Given the description of an element on the screen output the (x, y) to click on. 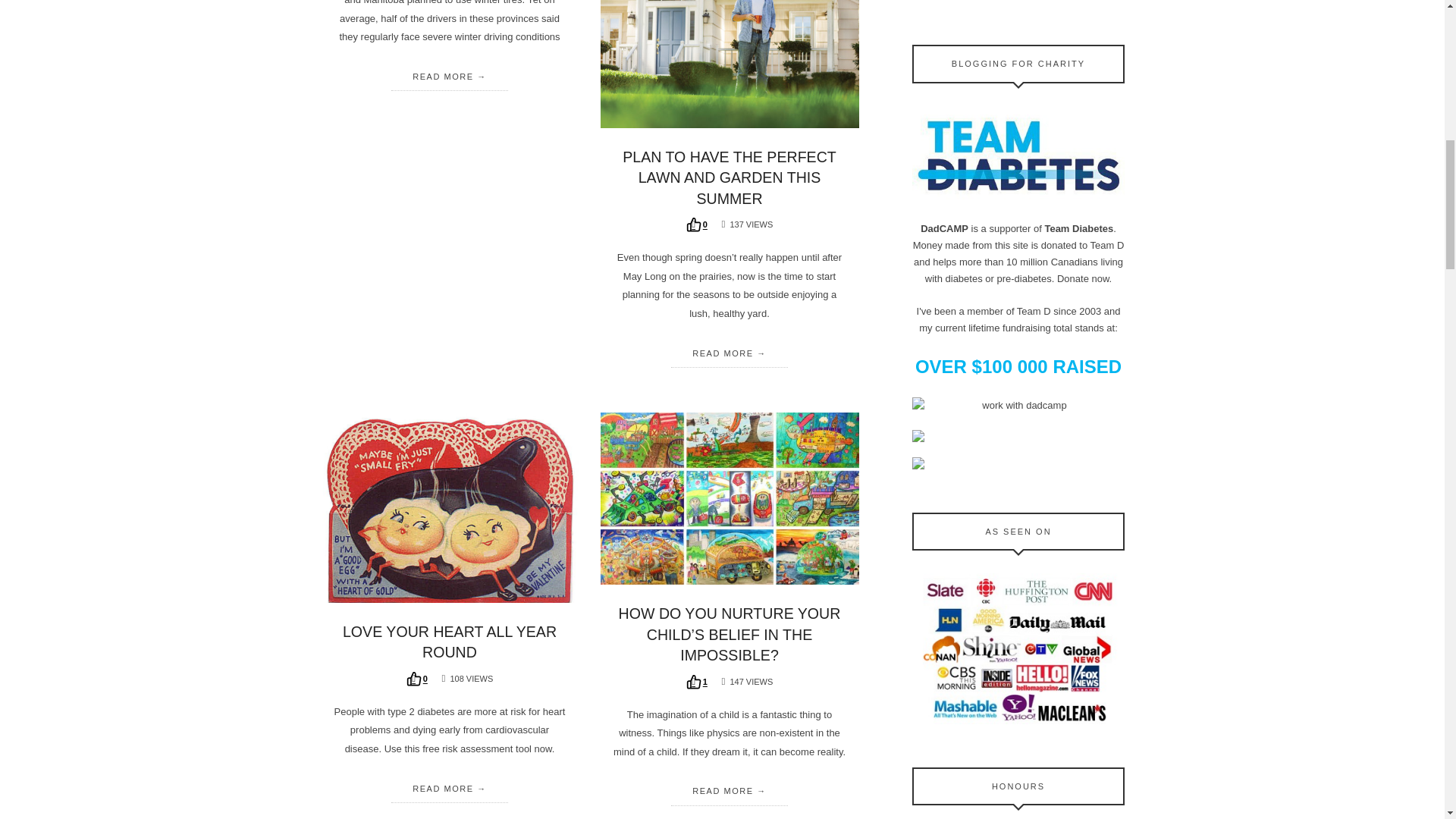
Recommend this (417, 678)
Recommend this (696, 681)
Recommend this (696, 224)
